Given the description of an element on the screen output the (x, y) to click on. 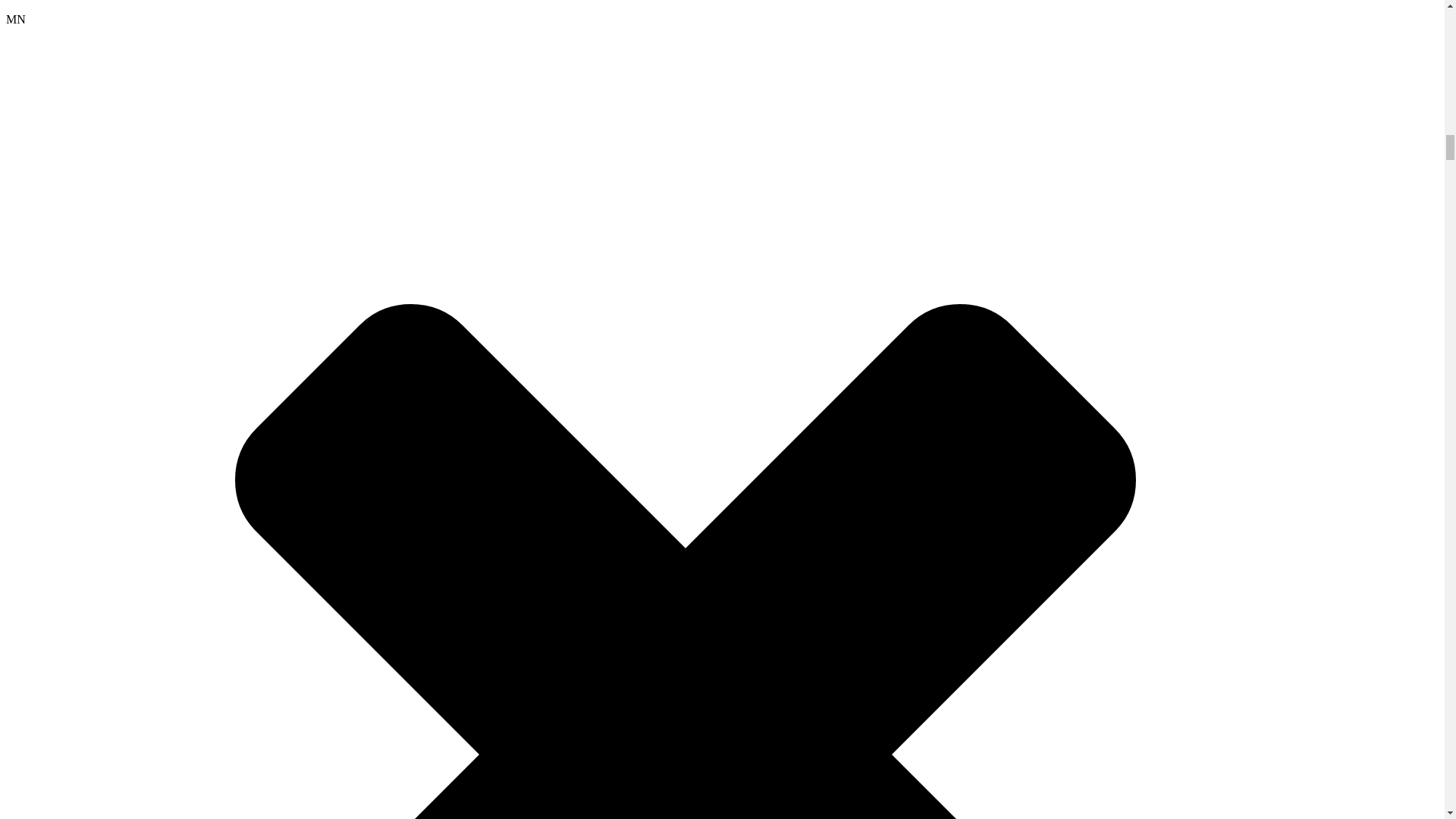
Store details (714, 12)
